Given the description of an element on the screen output the (x, y) to click on. 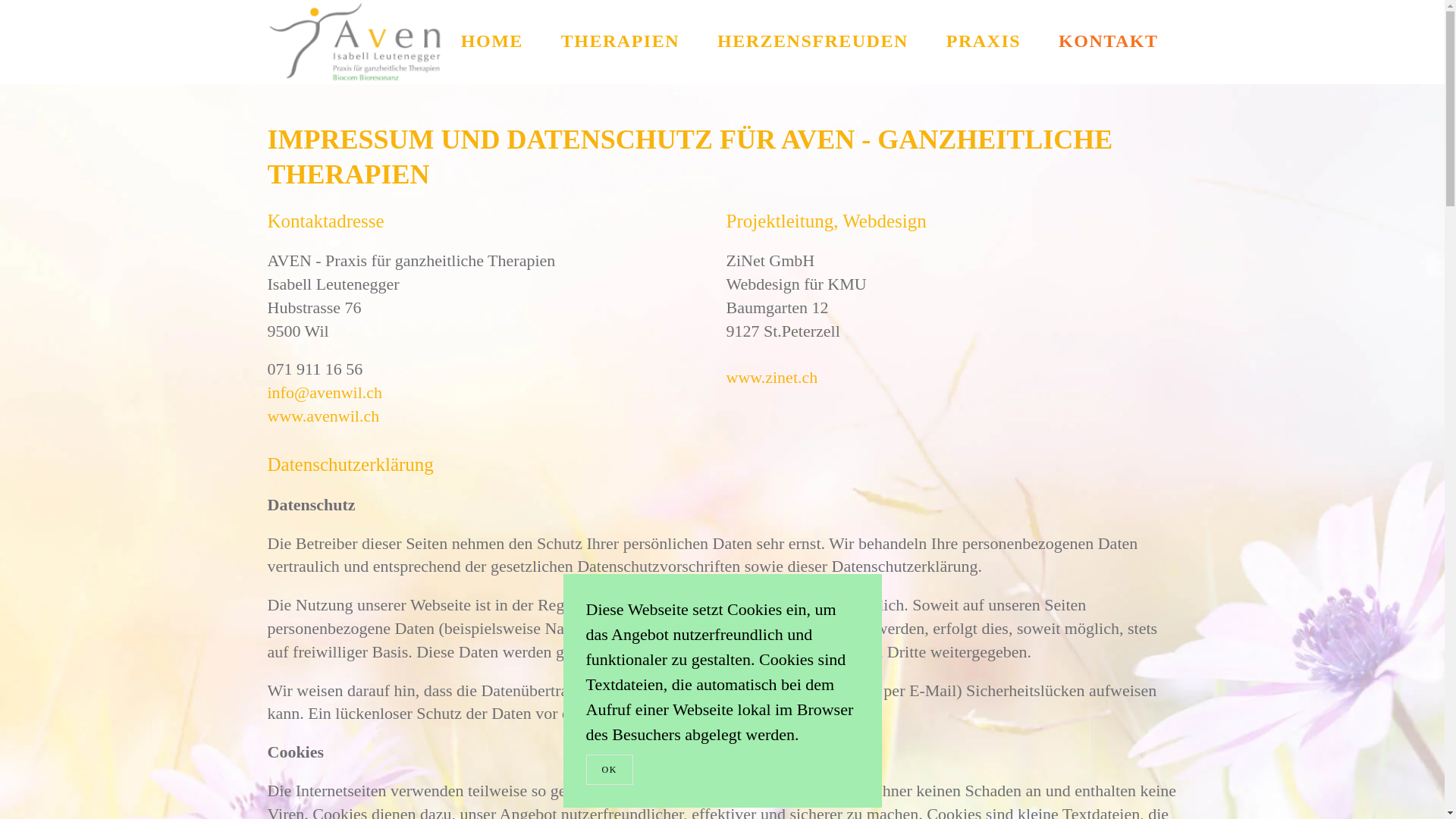
HERZENSFREUDEN Element type: text (812, 41)
www.zinet.ch Element type: text (772, 376)
PRAXIS Element type: text (983, 41)
OK Element type: text (608, 769)
THERAPIEN Element type: text (620, 41)
www.avenwil.ch Element type: text (322, 415)
KONTAKT Element type: text (1107, 41)
info@avenwil.ch Element type: text (324, 391)
HOME Element type: text (492, 41)
